Given the description of an element on the screen output the (x, y) to click on. 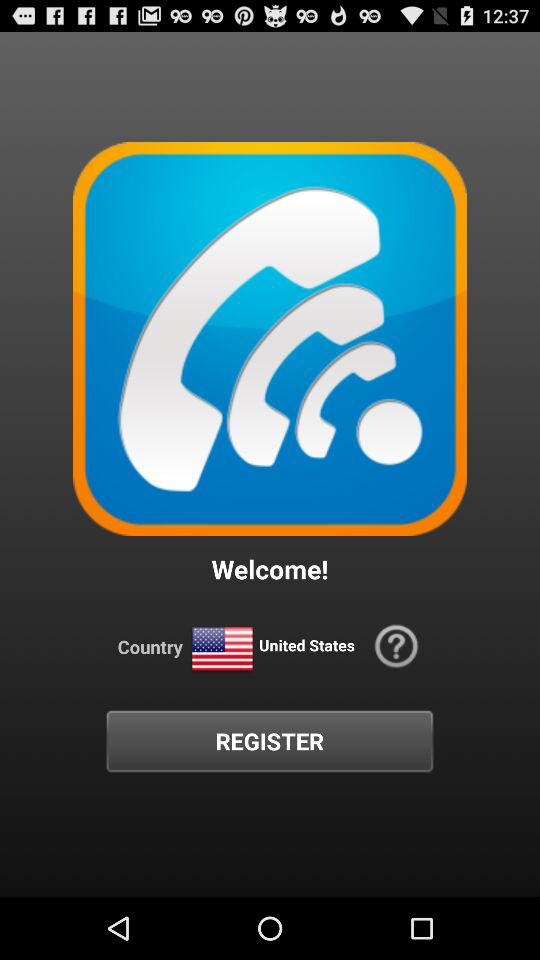
turn off icon to the left of united states (221, 649)
